Given the description of an element on the screen output the (x, y) to click on. 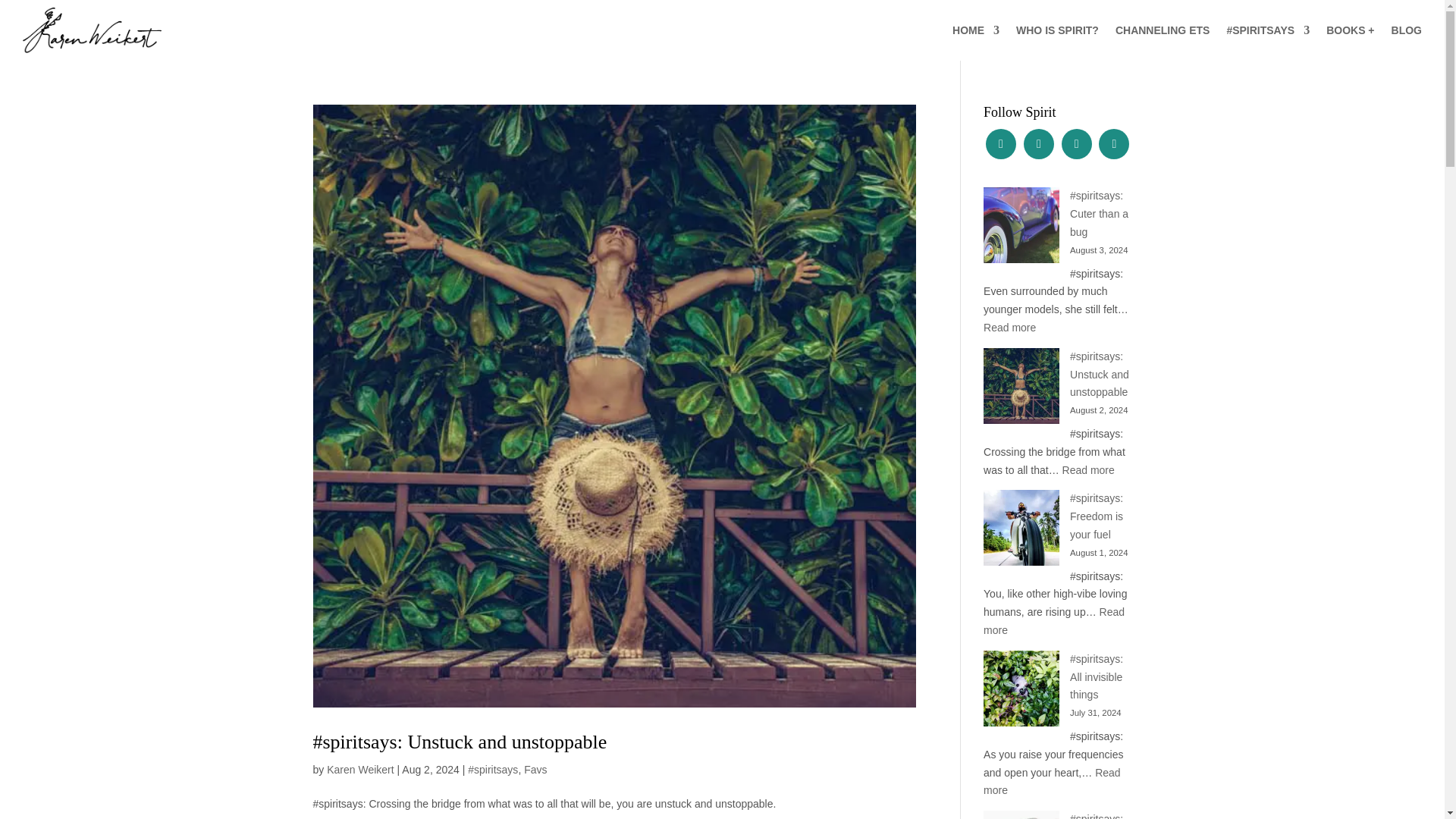
WHO IS SPIRIT? (1057, 33)
Posts by Karen Weikert (359, 769)
Karen Weikert logo (92, 30)
HOME (975, 33)
CHANNELING ETS (1162, 33)
